Given the description of an element on the screen output the (x, y) to click on. 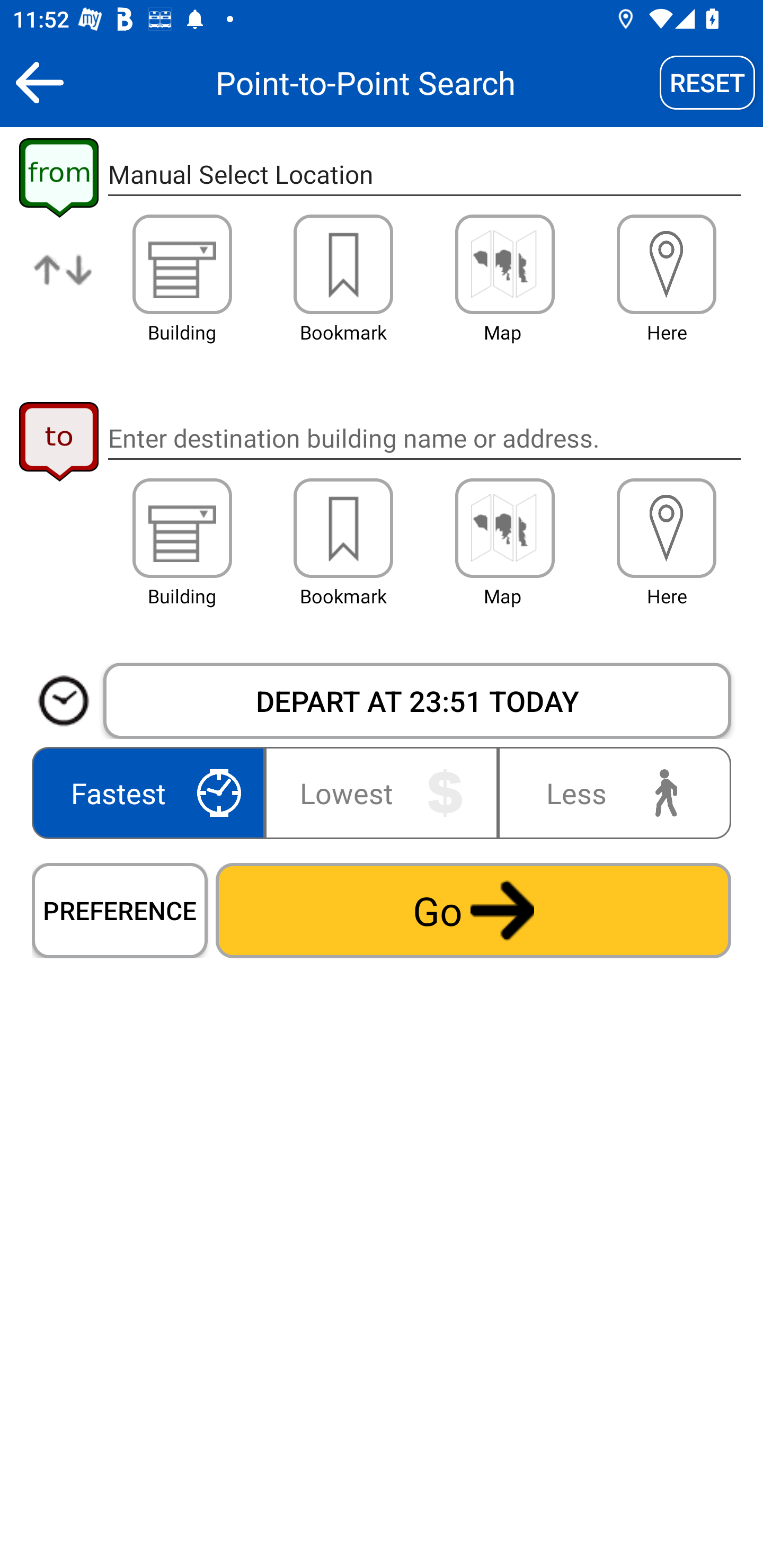
Back (39, 82)
RESET Reset (707, 81)
Manual Select Location (423, 174)
Building (181, 263)
Bookmarks (342, 263)
Select location on map (504, 263)
Here (666, 263)
Swap origin and destination (63, 284)
Enter destination building name or address. (423, 437)
Building (181, 528)
Bookmarks (342, 528)
Select location on map (504, 528)
Here (666, 528)
Lowest (381, 792)
Fastest selected (151, 792)
Less (610, 792)
PREFERENCE Preference (119, 910)
Go (472, 910)
